Given the description of an element on the screen output the (x, y) to click on. 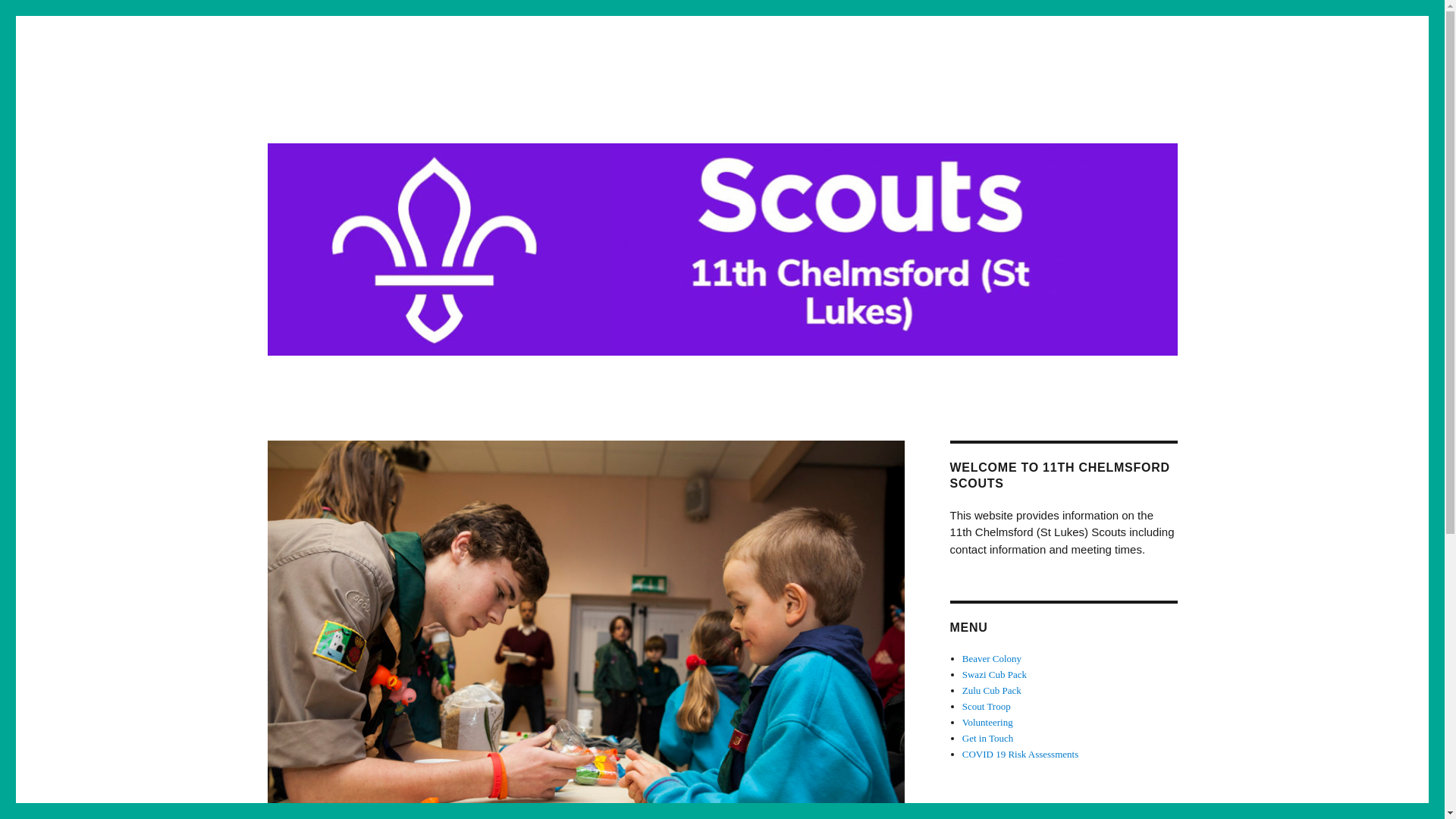
11th Chelmsford Scout Group (417, 114)
Volunteering (987, 722)
Zulu Cub Pack (992, 690)
Beaver Colony (992, 658)
Get in Touch (987, 737)
Scout Troop (986, 706)
Swazi Cub Pack (994, 674)
COVID 19 Risk Assessments (1020, 754)
